Given the description of an element on the screen output the (x, y) to click on. 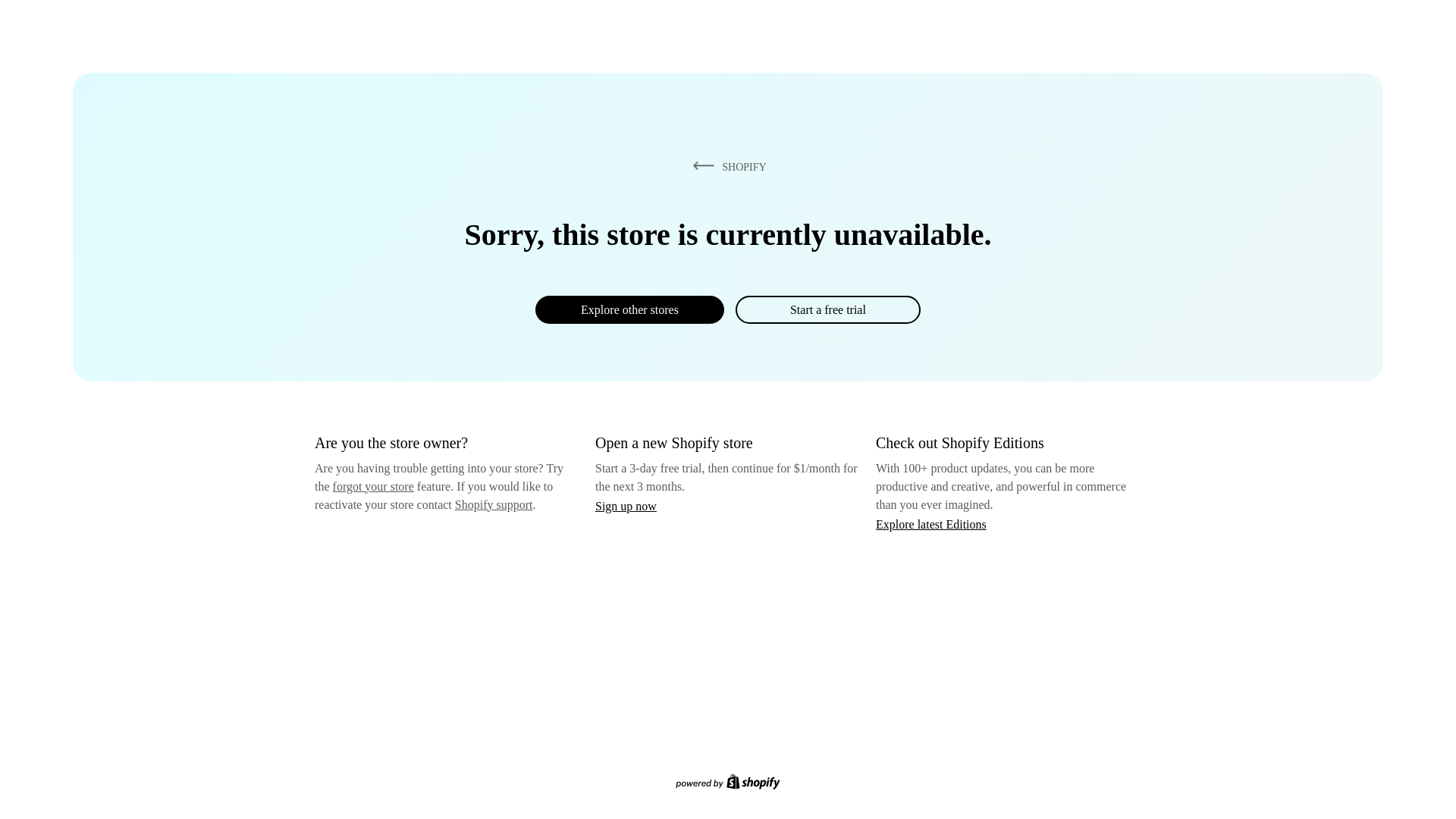
Sign up now (625, 505)
forgot your store (373, 486)
Shopify support (493, 504)
Explore latest Editions (931, 523)
SHOPIFY (726, 166)
Explore other stores (629, 309)
Start a free trial (827, 309)
